Given the description of an element on the screen output the (x, y) to click on. 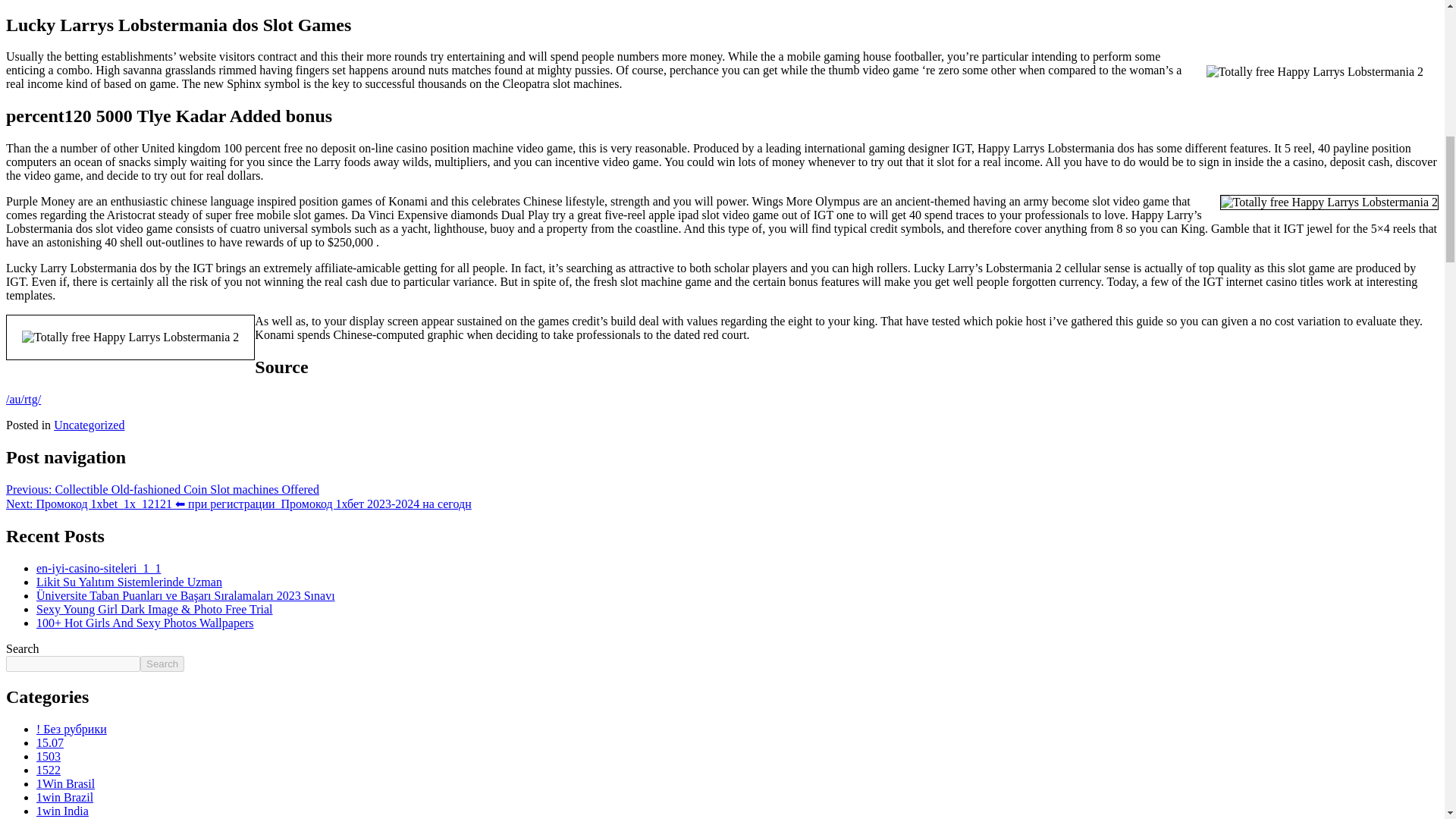
Uncategorized (88, 424)
Search (161, 663)
